Given the description of an element on the screen output the (x, y) to click on. 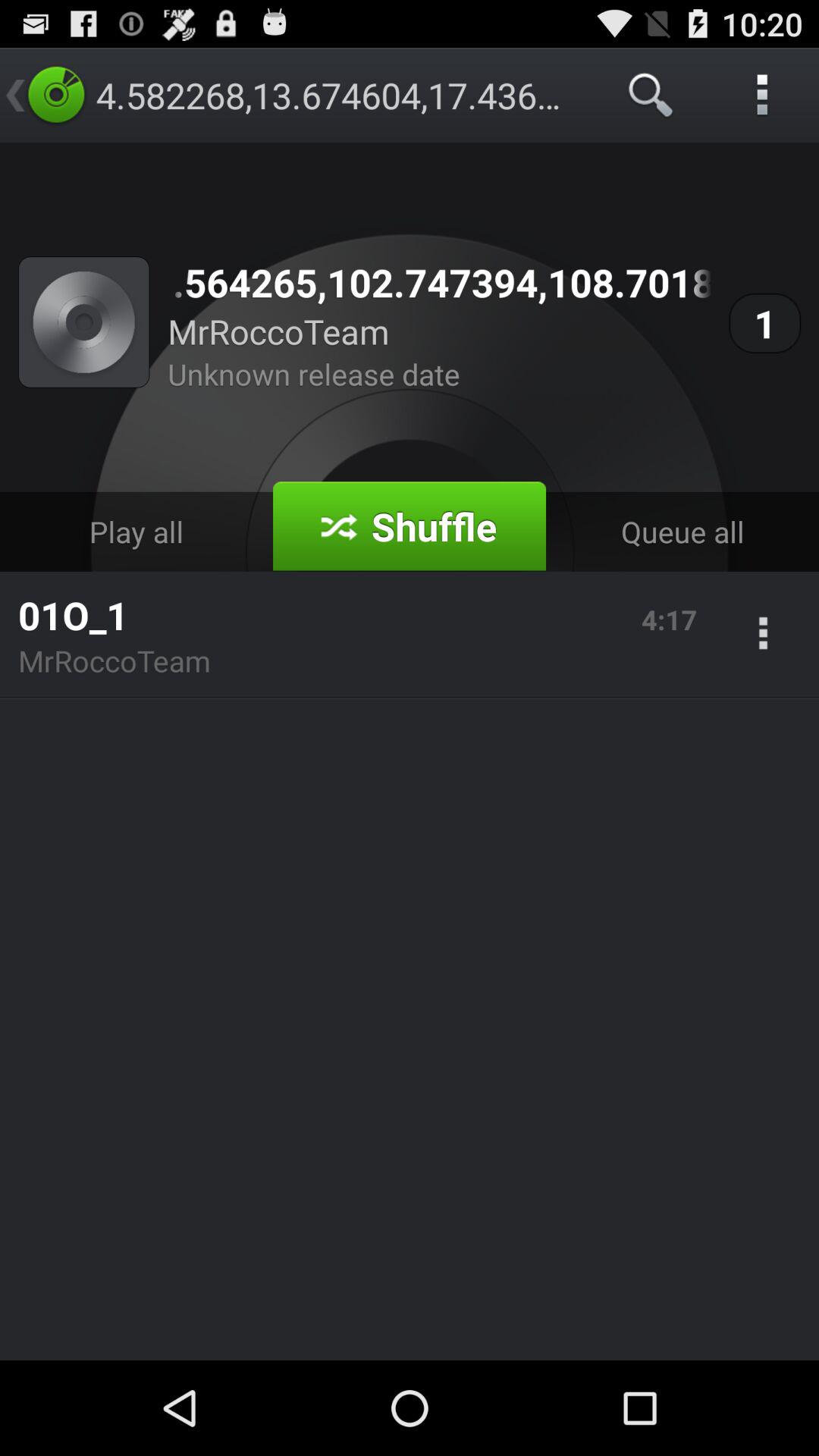
view more options (763, 634)
